Given the description of an element on the screen output the (x, y) to click on. 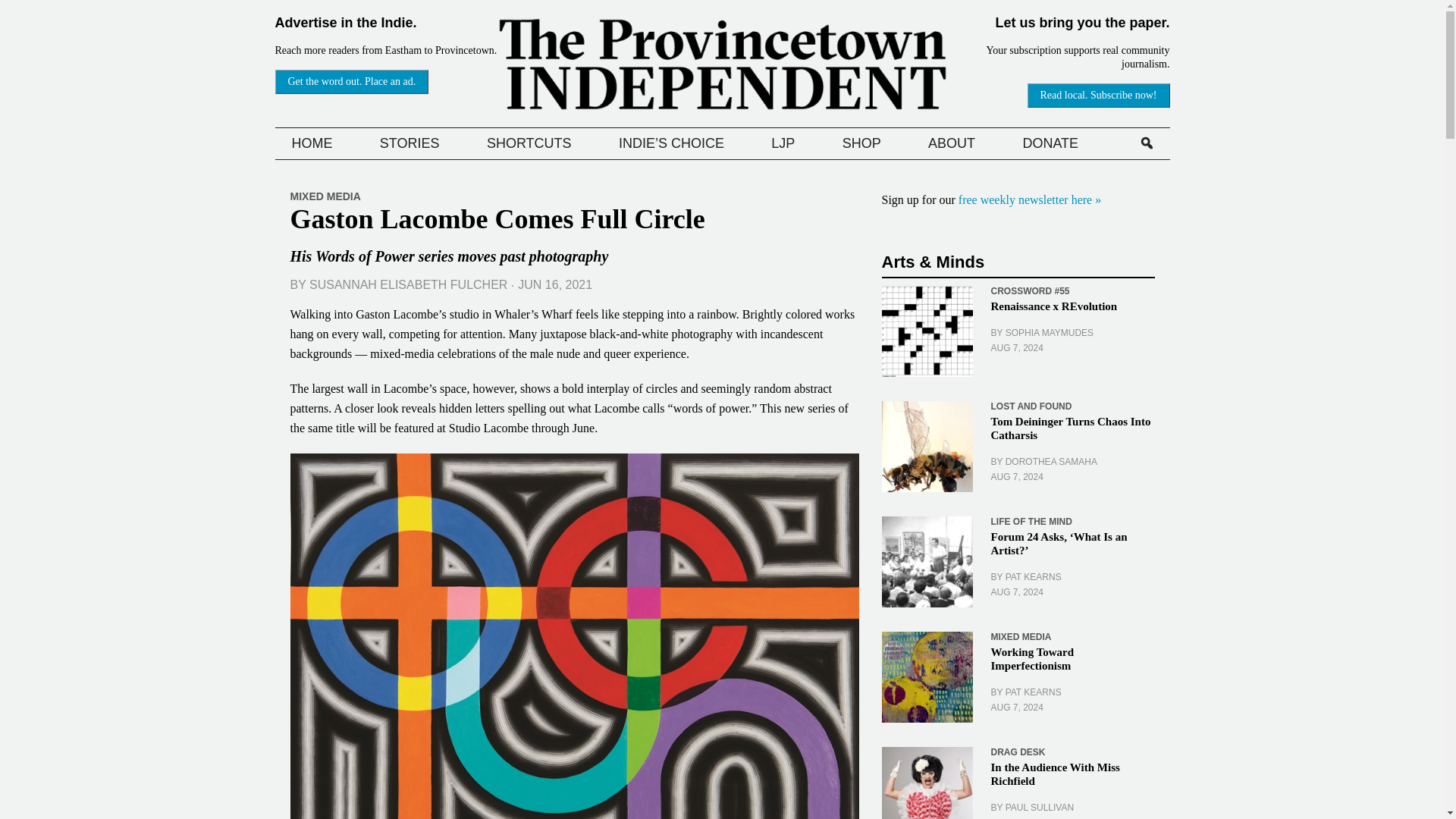
ABOUT (951, 142)
Get the word out. Place an ad. (351, 81)
SHORTCUTS (528, 142)
More from this category (1029, 290)
Read local. Subscribe now! (1098, 95)
The Provincetown Independent (722, 63)
LJP (782, 142)
DONATE (1050, 142)
